Given the description of an element on the screen output the (x, y) to click on. 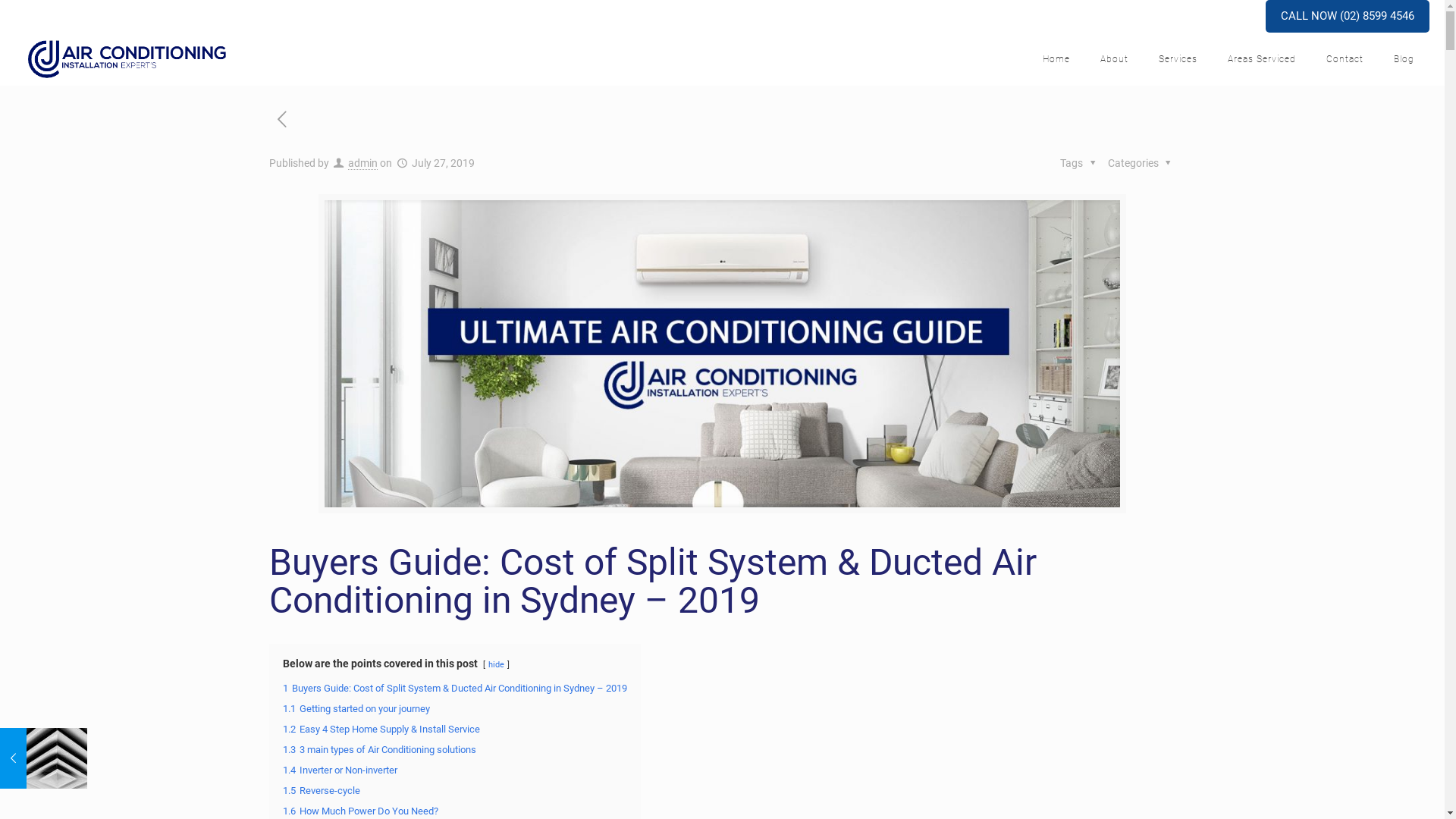
1.2 Easy 4 Step Home Supply & Install Service Element type: text (381, 728)
1.4 Inverter or Non-inverter Element type: text (339, 769)
hide Element type: text (496, 664)
Contact Element type: text (1344, 58)
1.3 3 main types of Air Conditioning solutions Element type: text (379, 749)
Blog Element type: text (1403, 58)
1.6 How Much Power Do You Need? Element type: text (360, 810)
1.1 Getting started on your journey Element type: text (355, 708)
Services Element type: text (1177, 58)
Home Element type: text (1056, 58)
admin Element type: text (362, 162)
1.5 Reverse-cycle Element type: text (321, 790)
CALL NOW (02) 8599 4546 Element type: text (1347, 16)
About Element type: text (1114, 58)
Areas Serviced Element type: text (1261, 58)
